Given the description of an element on the screen output the (x, y) to click on. 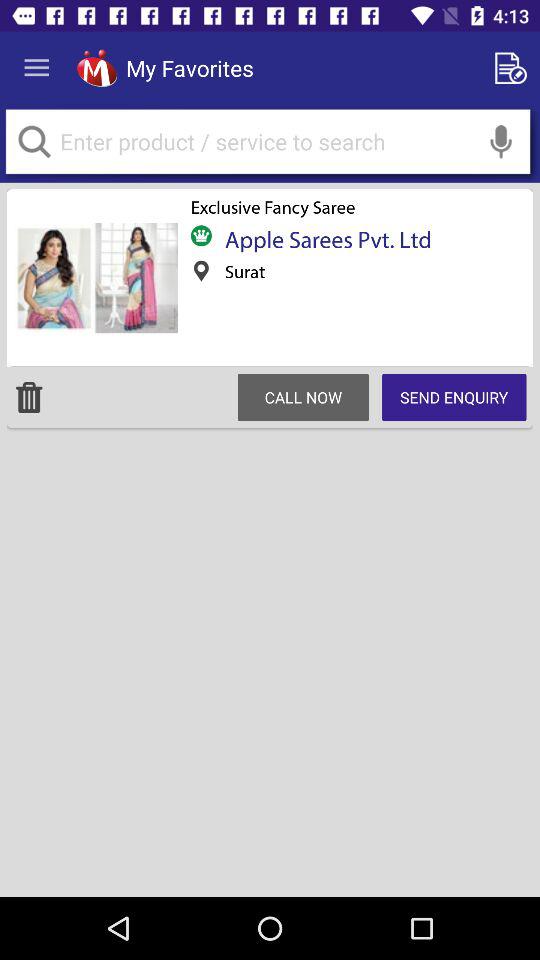
open the item on the left (29, 397)
